Given the description of an element on the screen output the (x, y) to click on. 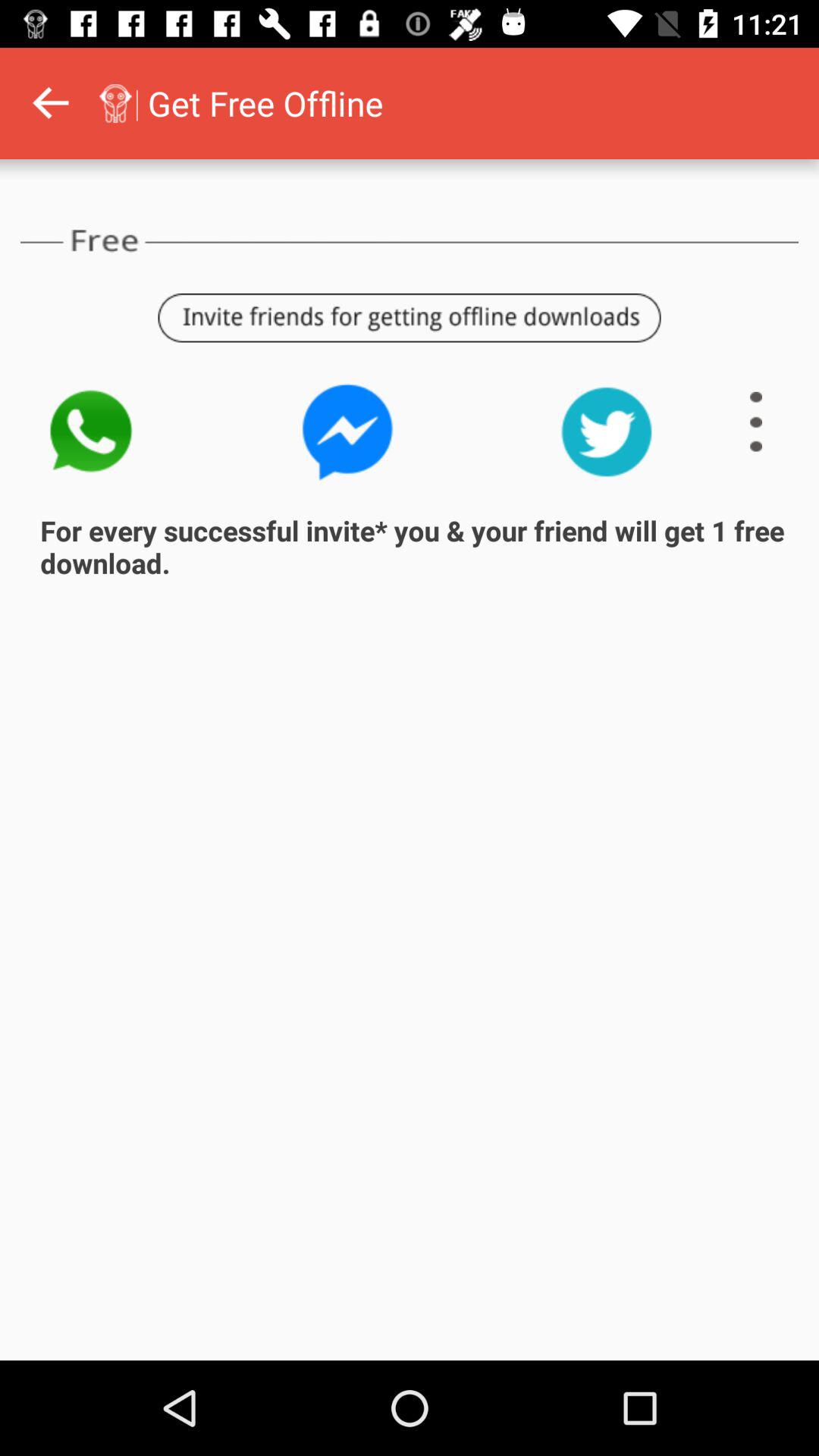
show more (756, 421)
